Given the description of an element on the screen output the (x, y) to click on. 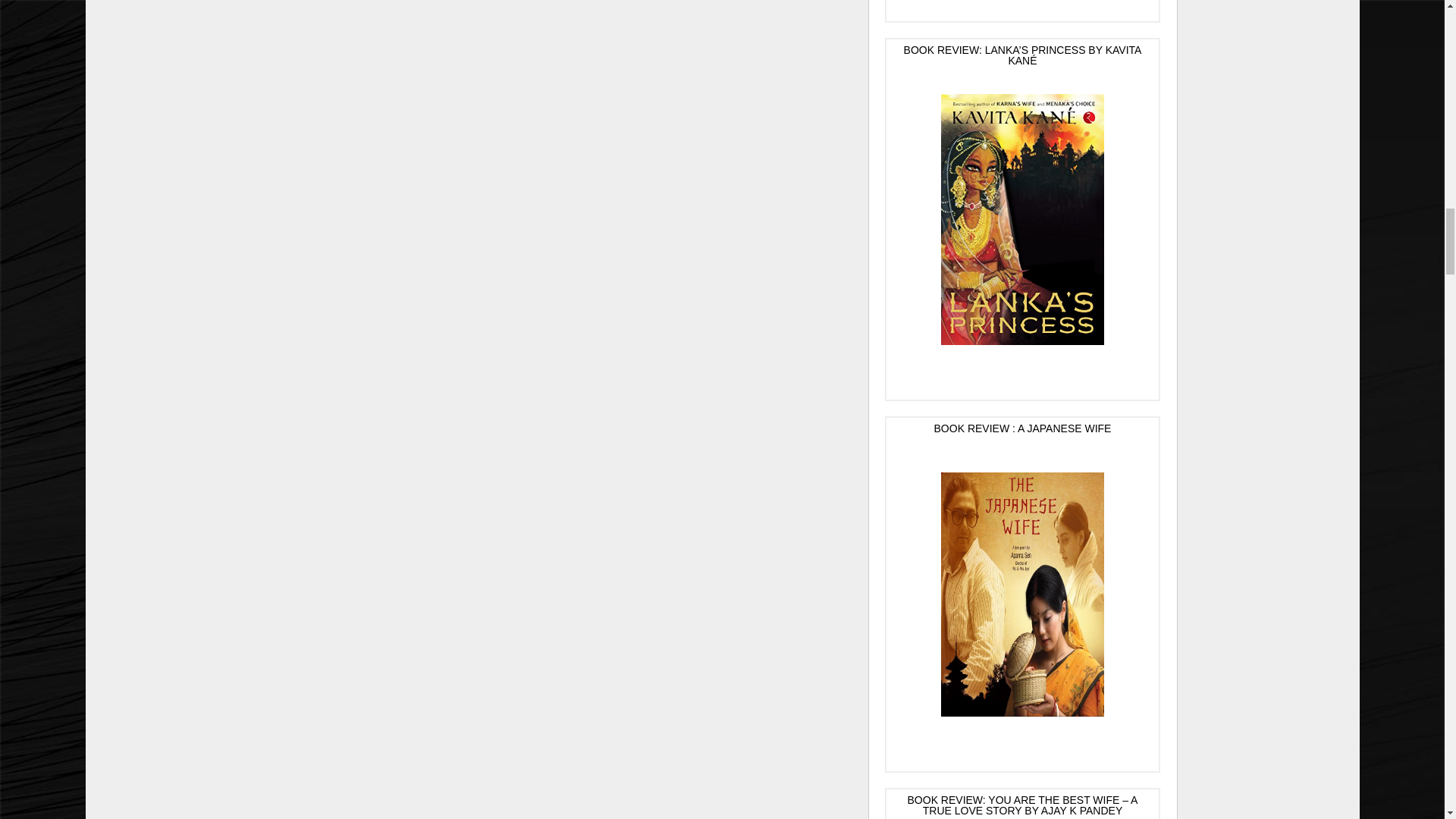
BOOK REVIEW: THE FALLEN BY DAVID BALDACCI (1022, 10)
